Given the description of an element on the screen output the (x, y) to click on. 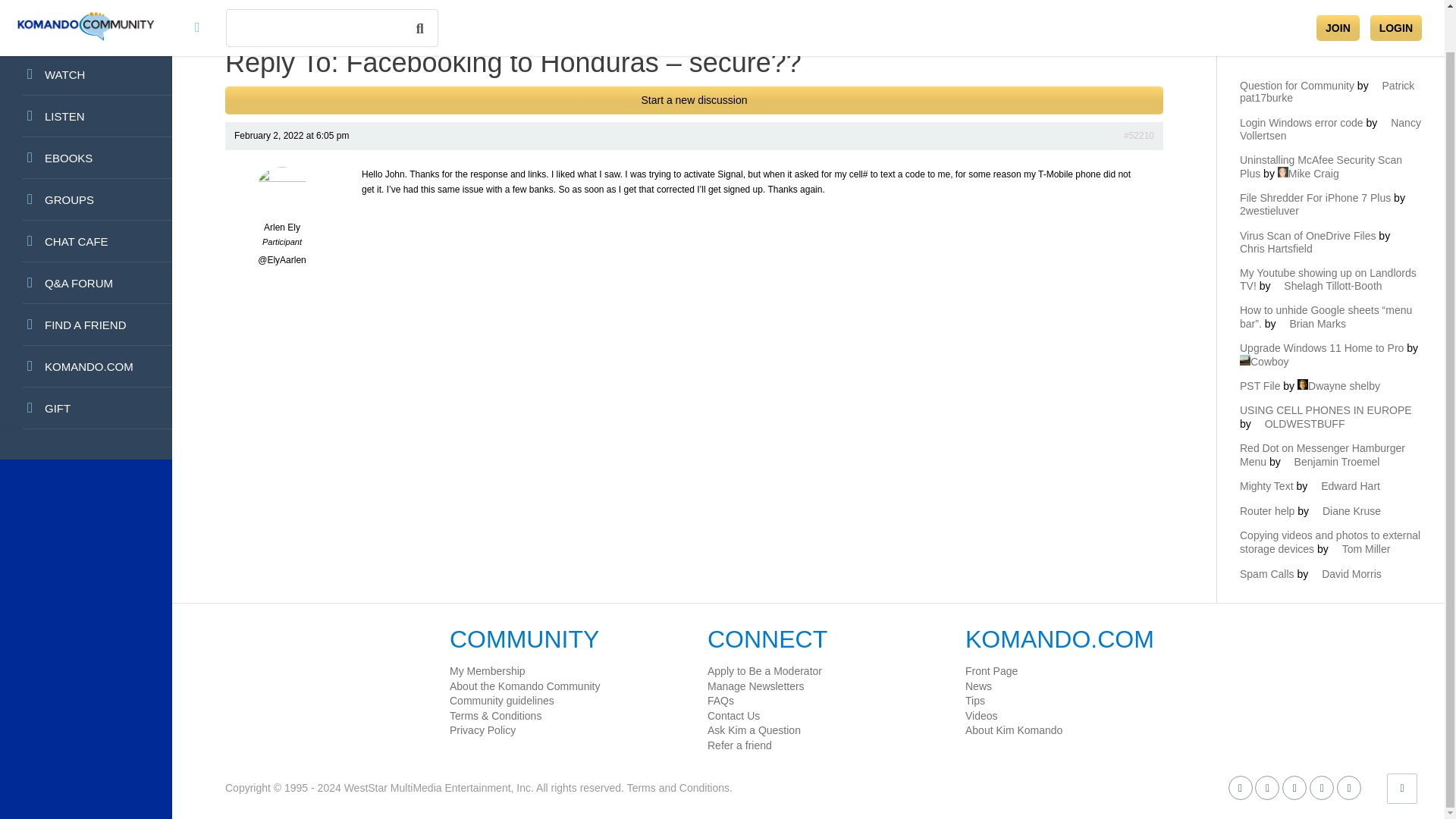
Search (1143, 38)
GIFT (85, 408)
View Dwayne shelby's profile (1338, 386)
View OLDWESTBUFF's profile (1299, 423)
View Benjamin Troemel's profile (1332, 461)
CHAT CAFE (85, 241)
GROUPS (85, 199)
View Nancy Vollertsen's profile (1330, 129)
FIND A FRIEND (85, 324)
View Edward Hart's profile (1345, 485)
